Given the description of an element on the screen output the (x, y) to click on. 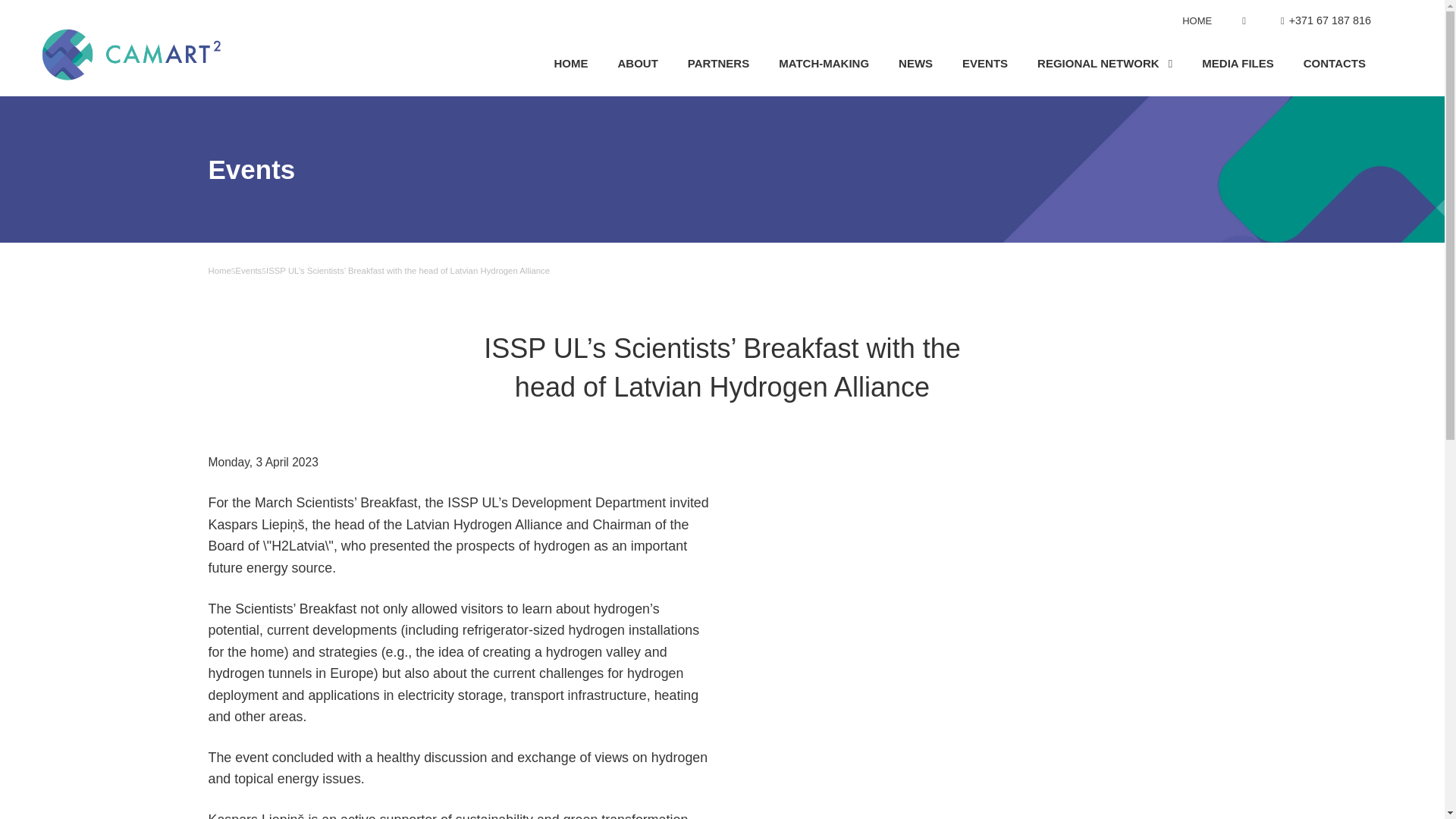
NEWS (915, 64)
EVENTS (984, 64)
MATCH-MAKING (823, 64)
HOME (570, 64)
Home (219, 270)
CONTACTS (1334, 64)
ABOUT (637, 64)
HOME (1196, 20)
REGIONAL NETWORK (1104, 64)
MEDIA FILES (1237, 64)
